Given the description of an element on the screen output the (x, y) to click on. 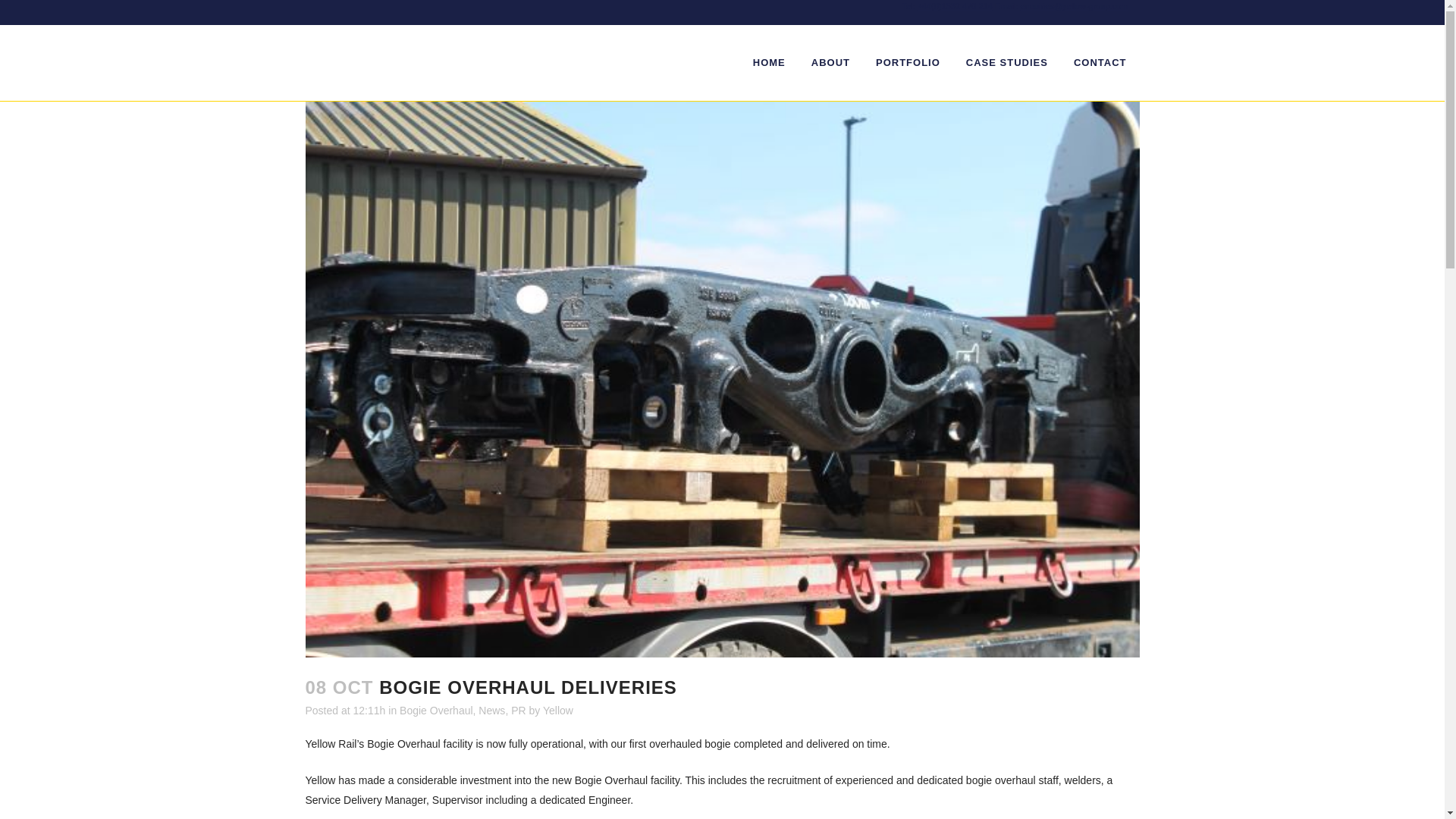
CONTACT (1100, 62)
PORTFOLIO (908, 62)
CASE STUDIES (1007, 62)
